Given the description of an element on the screen output the (x, y) to click on. 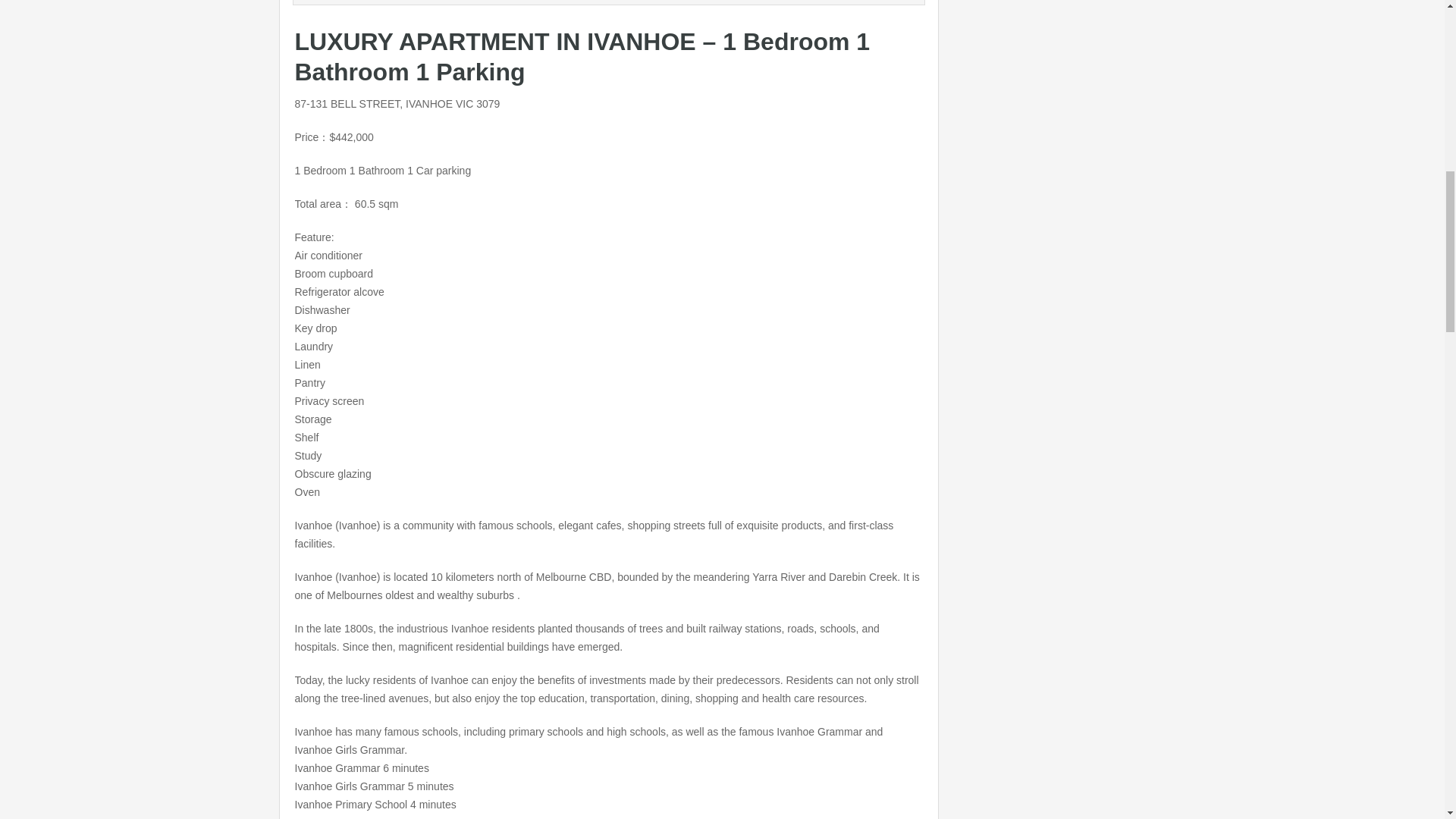
Area Size (339, 2)
